Given the description of an element on the screen output the (x, y) to click on. 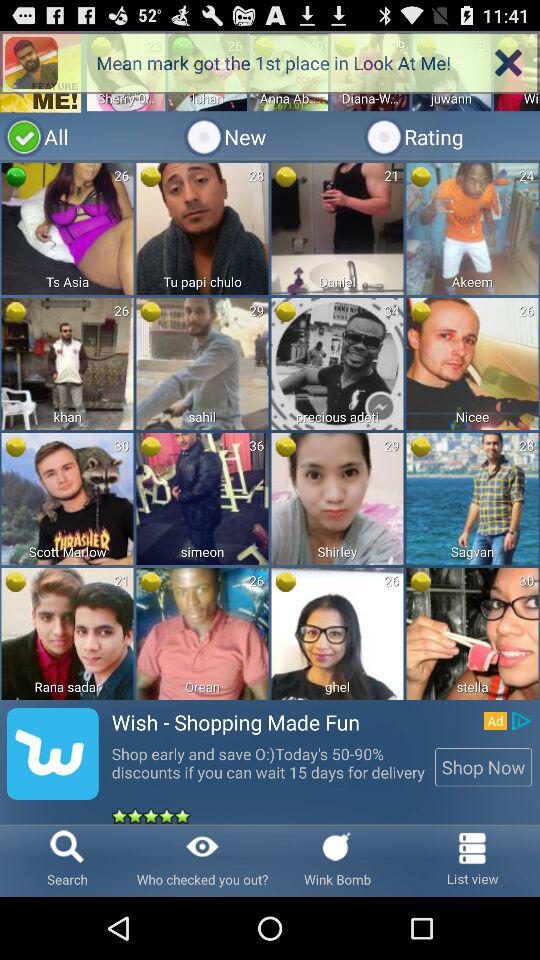
advertisement (270, 427)
